Given the description of an element on the screen output the (x, y) to click on. 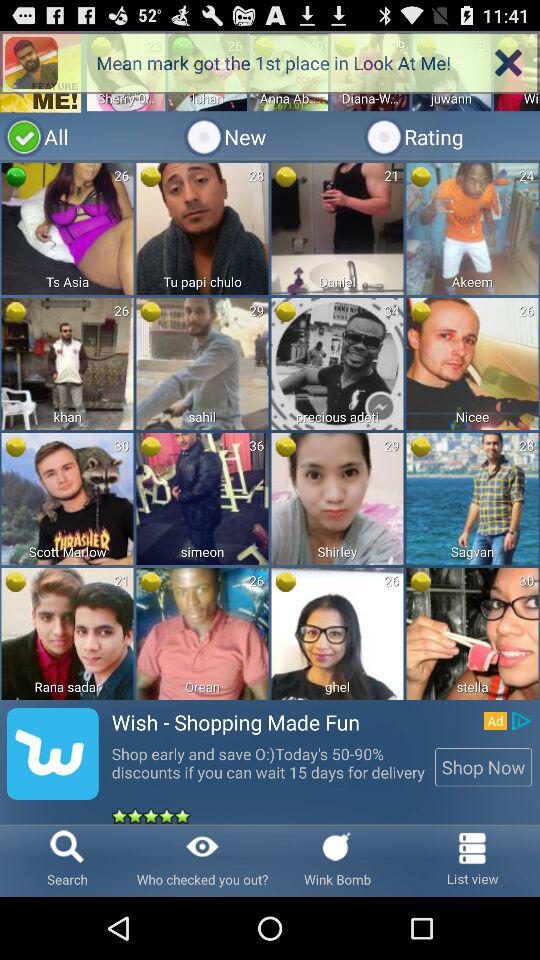
advertisement (270, 427)
